Given the description of an element on the screen output the (x, y) to click on. 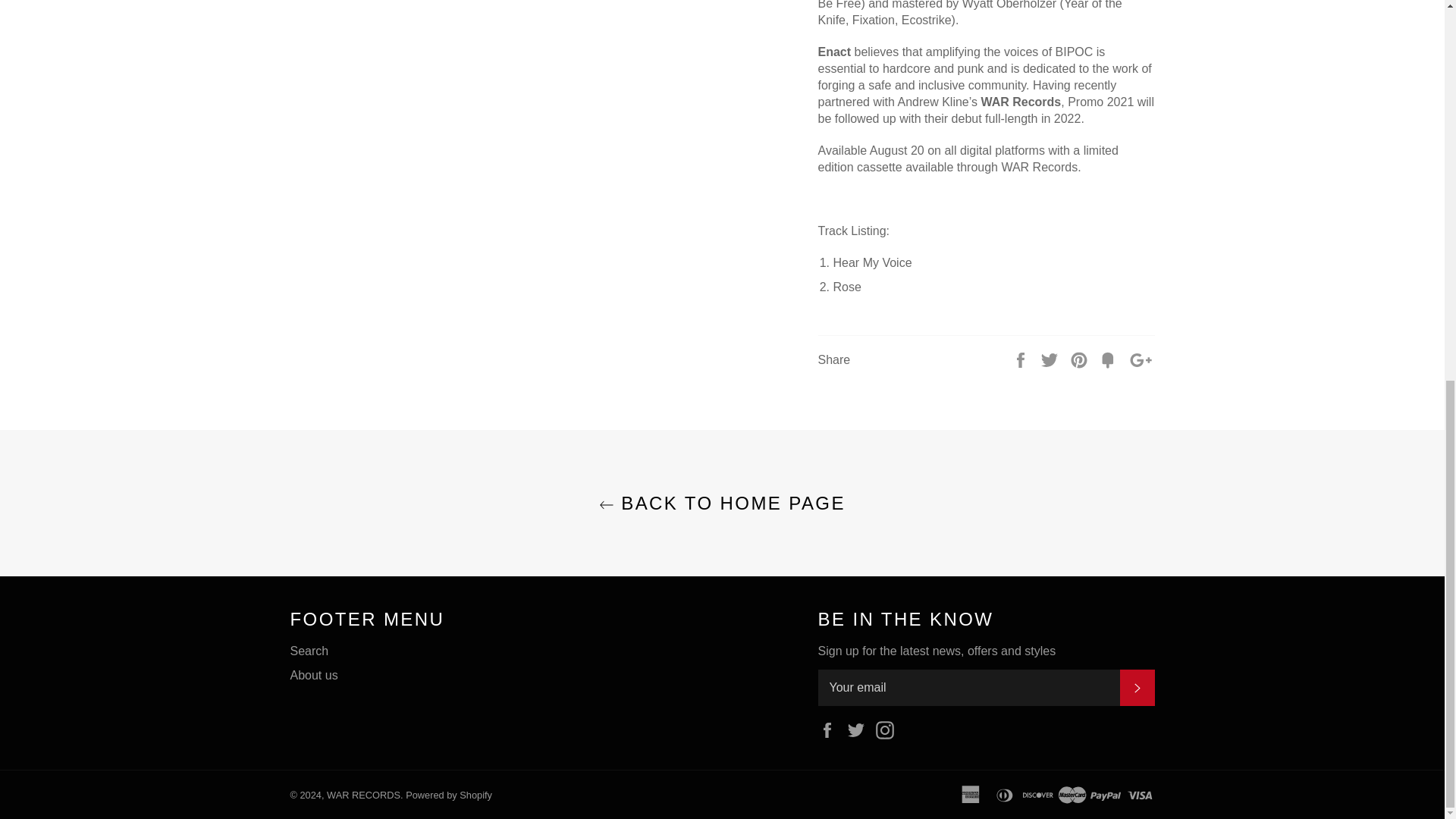
SUBSCRIBE (1136, 687)
Share on Facebook (1021, 358)
Twitter (859, 728)
BACK TO HOME PAGE (721, 502)
Pin on Pinterest (1080, 358)
WAR RECORDS on Twitter (859, 728)
Search (309, 650)
Add to Fancy (1109, 358)
WAR RECORDS on Facebook (829, 728)
Pin on Pinterest (1080, 358)
